Given the description of an element on the screen output the (x, y) to click on. 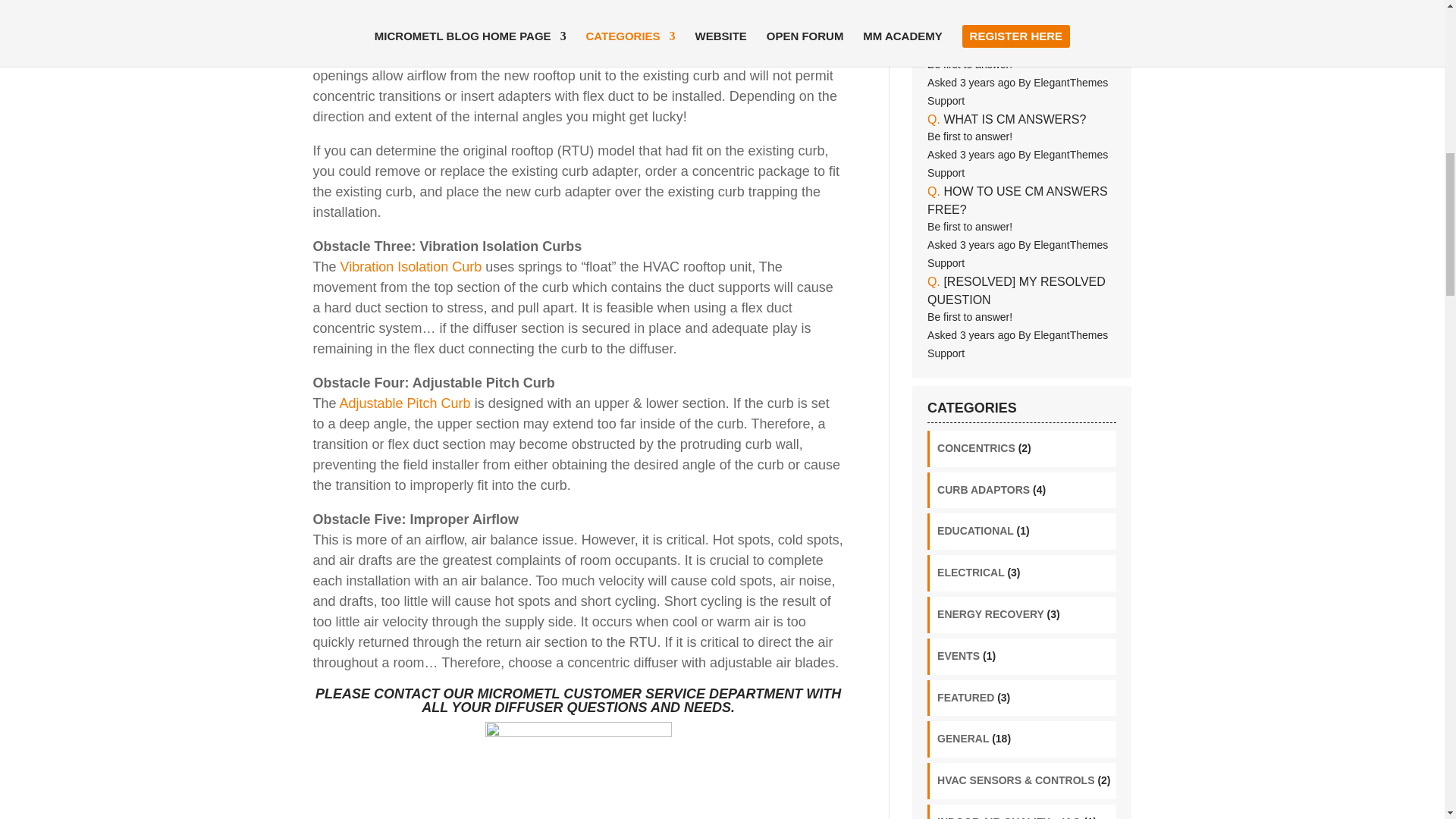
Vibration Isolation Curb (410, 266)
Curb Adapters (416, 55)
Adjustable Pitch Curb (404, 403)
